Given the description of an element on the screen output the (x, y) to click on. 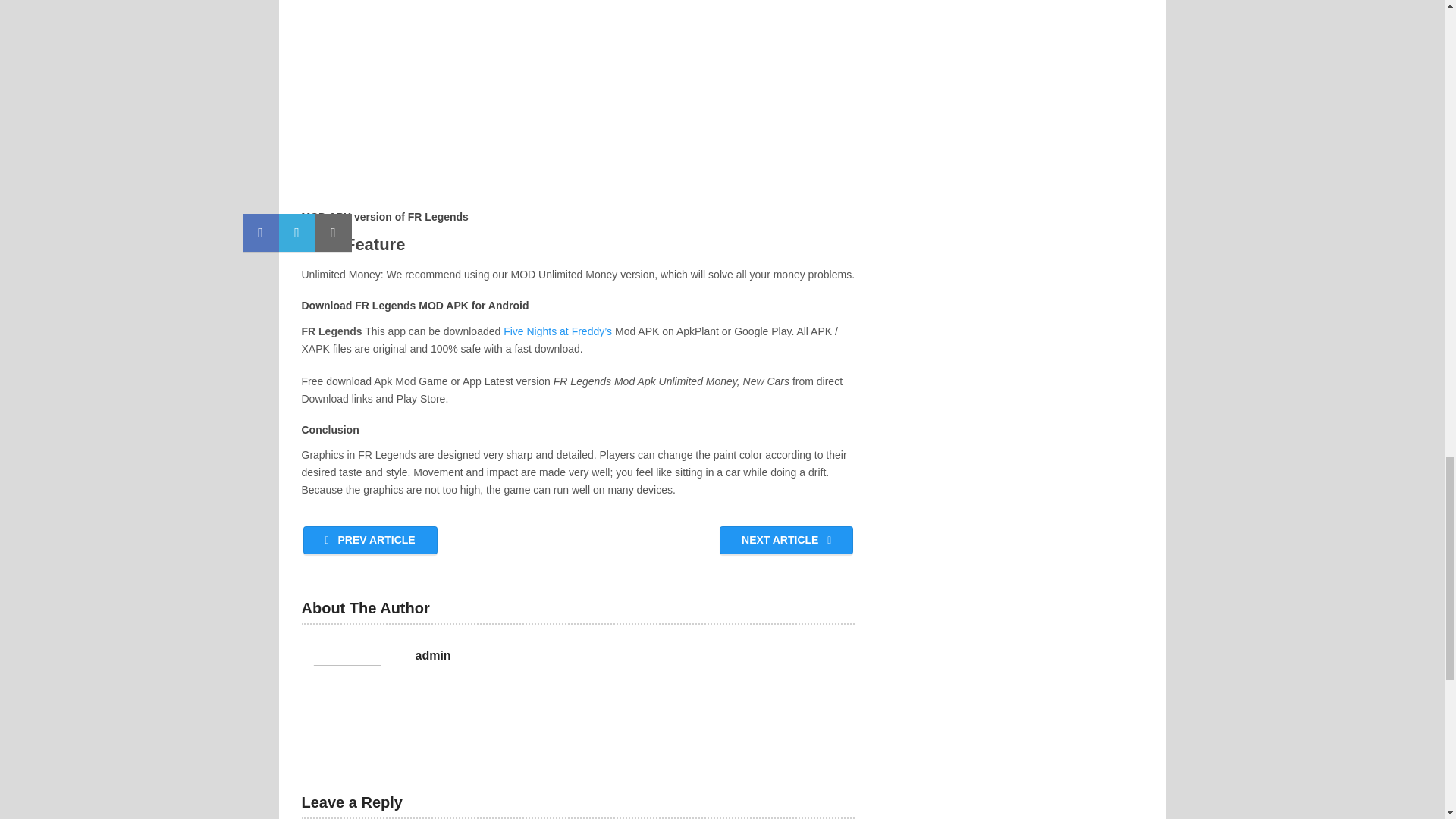
FR Legends Mod APK (577, 97)
